Given the description of an element on the screen output the (x, y) to click on. 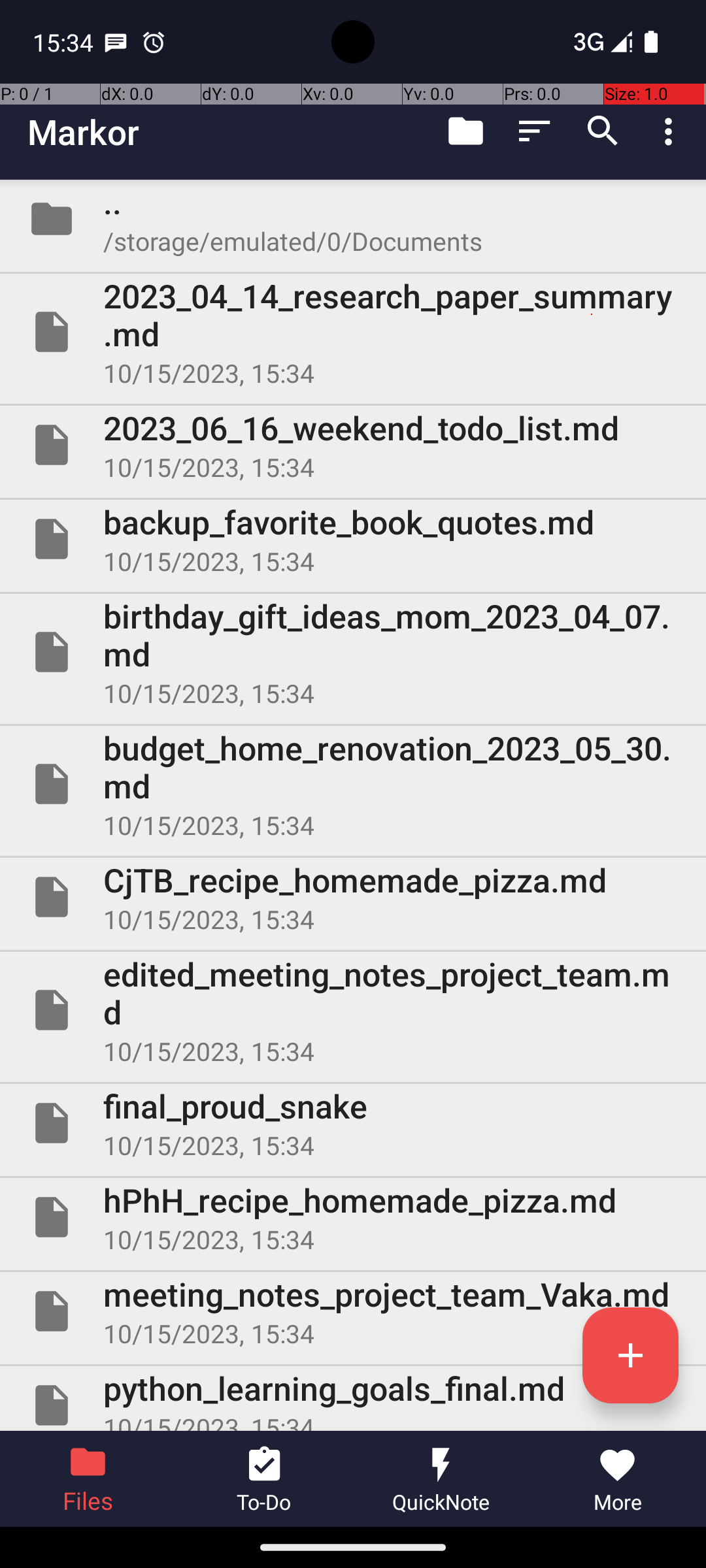
File 2023_04_14_research_paper_summary.md  Element type: android.widget.LinearLayout (353, 331)
File 2023_06_16_weekend_todo_list.md  Element type: android.widget.LinearLayout (353, 444)
File backup_favorite_book_quotes.md  Element type: android.widget.LinearLayout (353, 538)
File birthday_gift_ideas_mom_2023_04_07.md  Element type: android.widget.LinearLayout (353, 651)
File budget_home_renovation_2023_05_30.md  Element type: android.widget.LinearLayout (353, 783)
File CjTB_recipe_homemade_pizza.md  Element type: android.widget.LinearLayout (353, 896)
File edited_meeting_notes_project_team.md  Element type: android.widget.LinearLayout (353, 1009)
File final_proud_snake  Element type: android.widget.LinearLayout (353, 1122)
File hPhH_recipe_homemade_pizza.md  Element type: android.widget.LinearLayout (353, 1216)
File meeting_notes_project_team_Vaka.md  Element type: android.widget.LinearLayout (353, 1311)
File python_learning_goals_final.md  Element type: android.widget.LinearLayout (353, 1398)
